Given the description of an element on the screen output the (x, y) to click on. 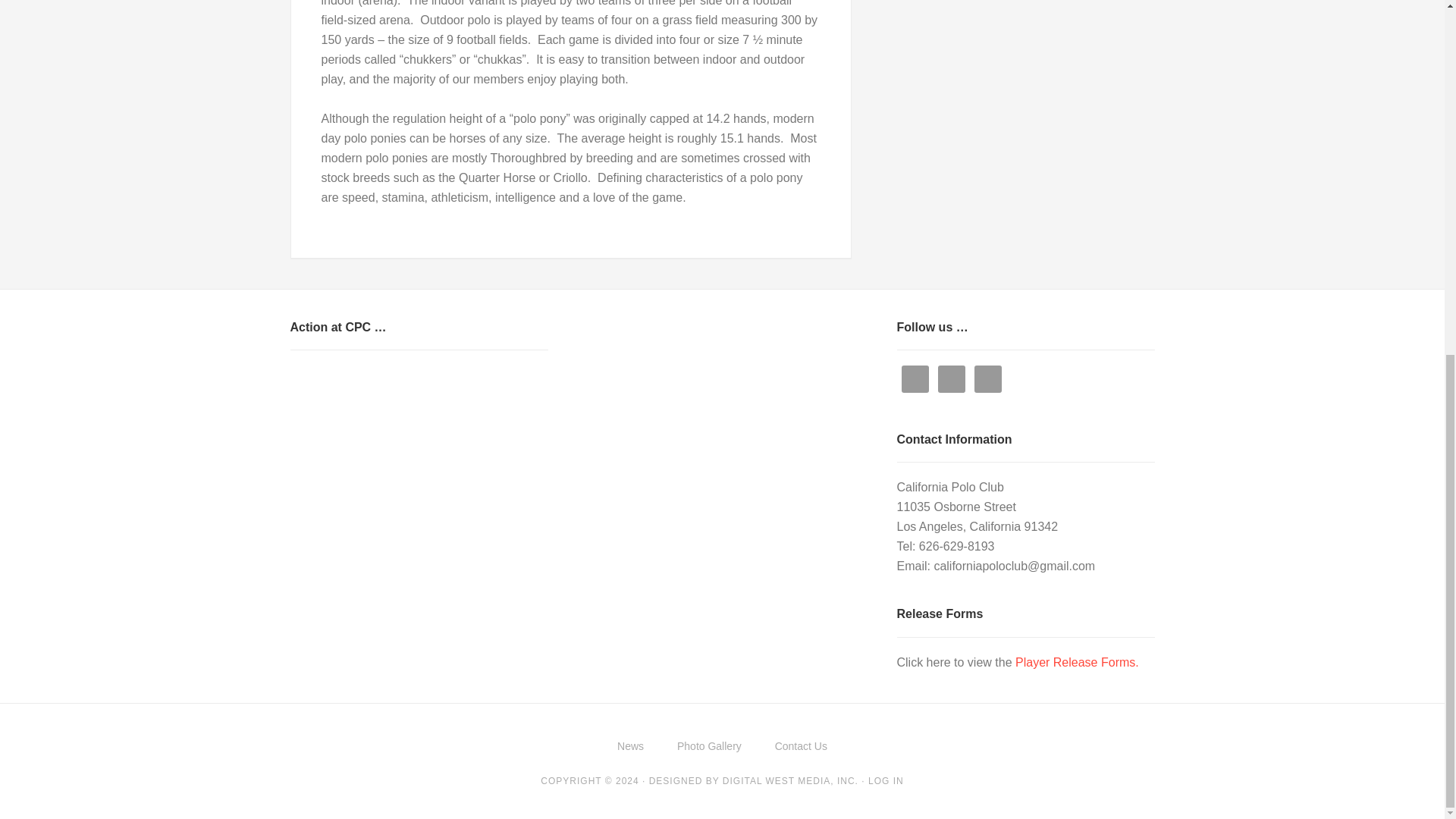
Contact Us (801, 746)
DIGITAL WEST MEDIA, INC. (790, 780)
News (630, 746)
Photo Gallery (709, 746)
Player Release Forms. (1076, 662)
